Given the description of an element on the screen output the (x, y) to click on. 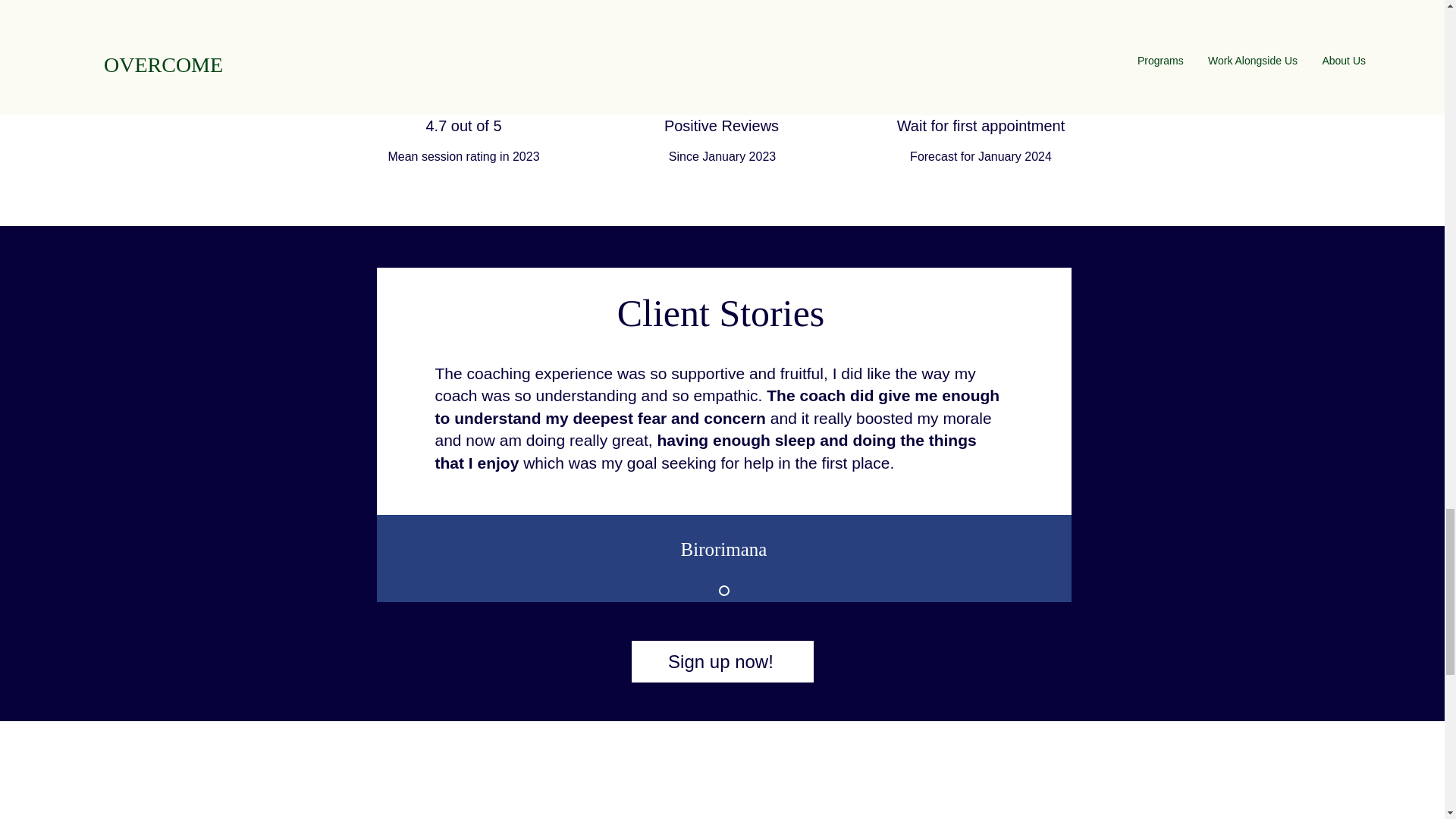
Sign up now! (721, 661)
